Given the description of an element on the screen output the (x, y) to click on. 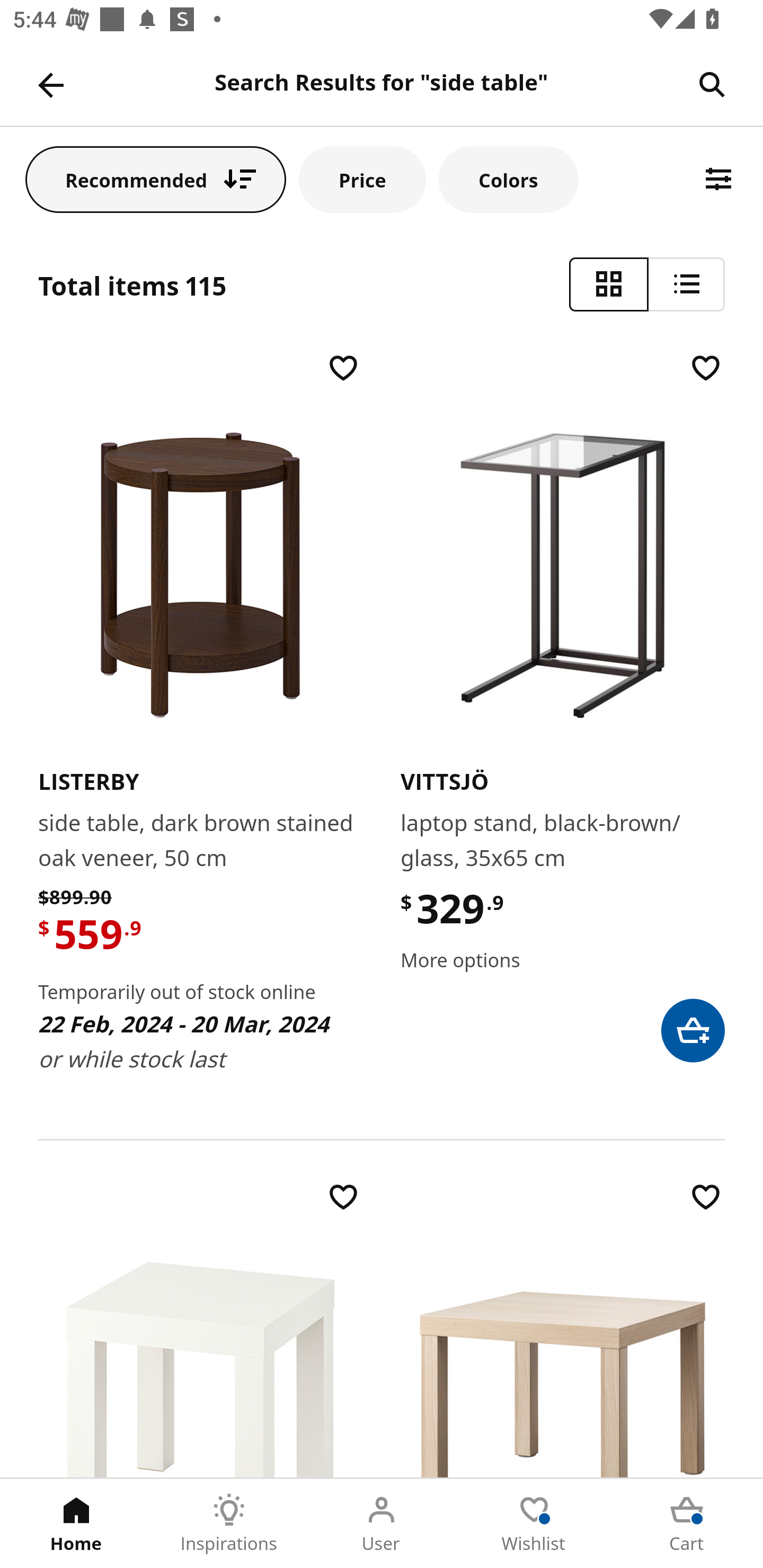
Recommended (155, 179)
Price (362, 179)
Colors (508, 179)
​L​A​C​K​
side table, white, 35x35 cm
$
79
.9 (200, 1328)
Home
Tab 1 of 5 (76, 1522)
Inspirations
Tab 2 of 5 (228, 1522)
User
Tab 3 of 5 (381, 1522)
Wishlist
Tab 4 of 5 (533, 1522)
Cart
Tab 5 of 5 (686, 1522)
